Given the description of an element on the screen output the (x, y) to click on. 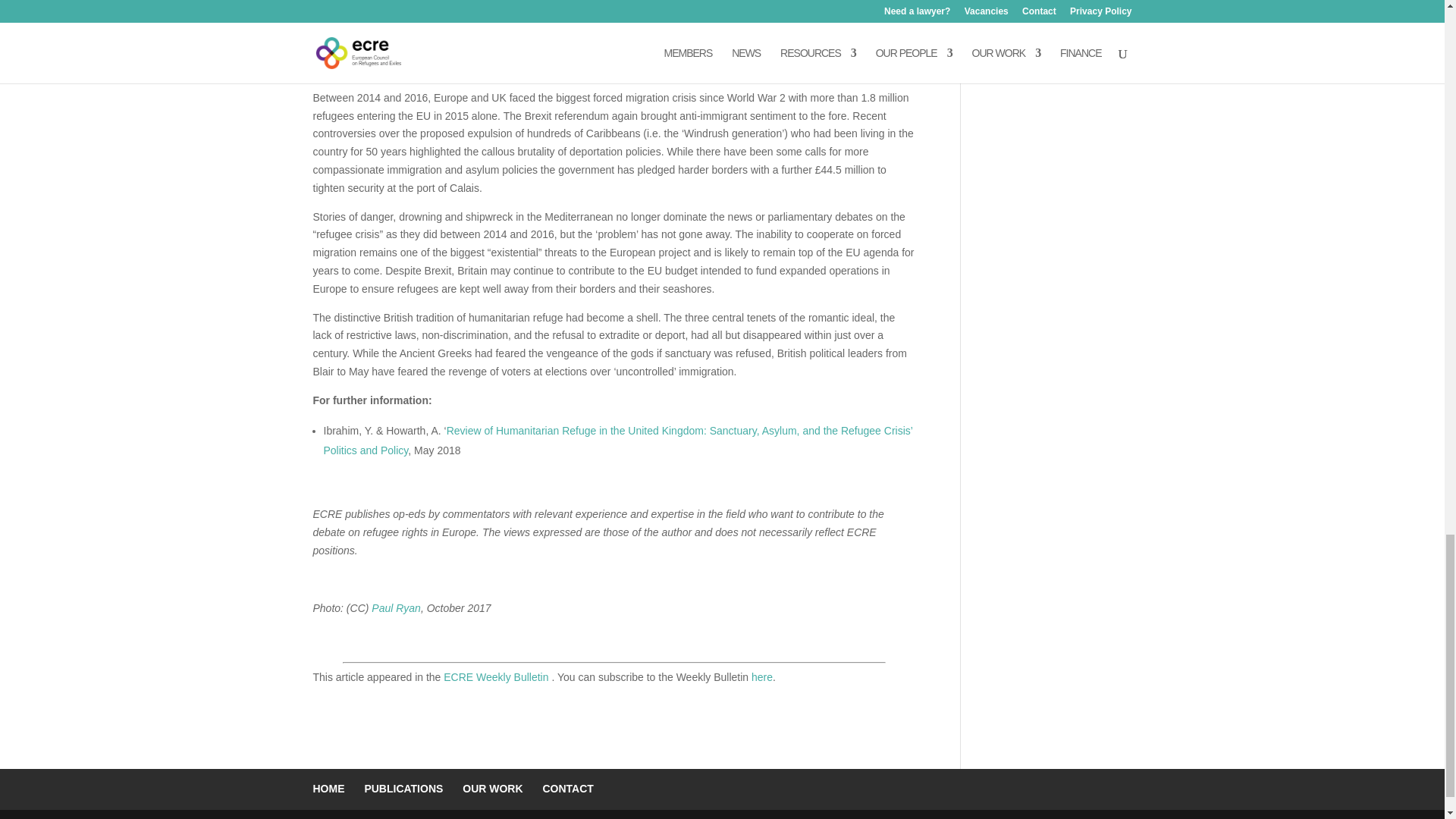
ECRE Weekly Bulletin (497, 676)
Paul Ryan (395, 607)
here (762, 676)
Go to Paul Ryan's photostream (395, 607)
